Given the description of an element on the screen output the (x, y) to click on. 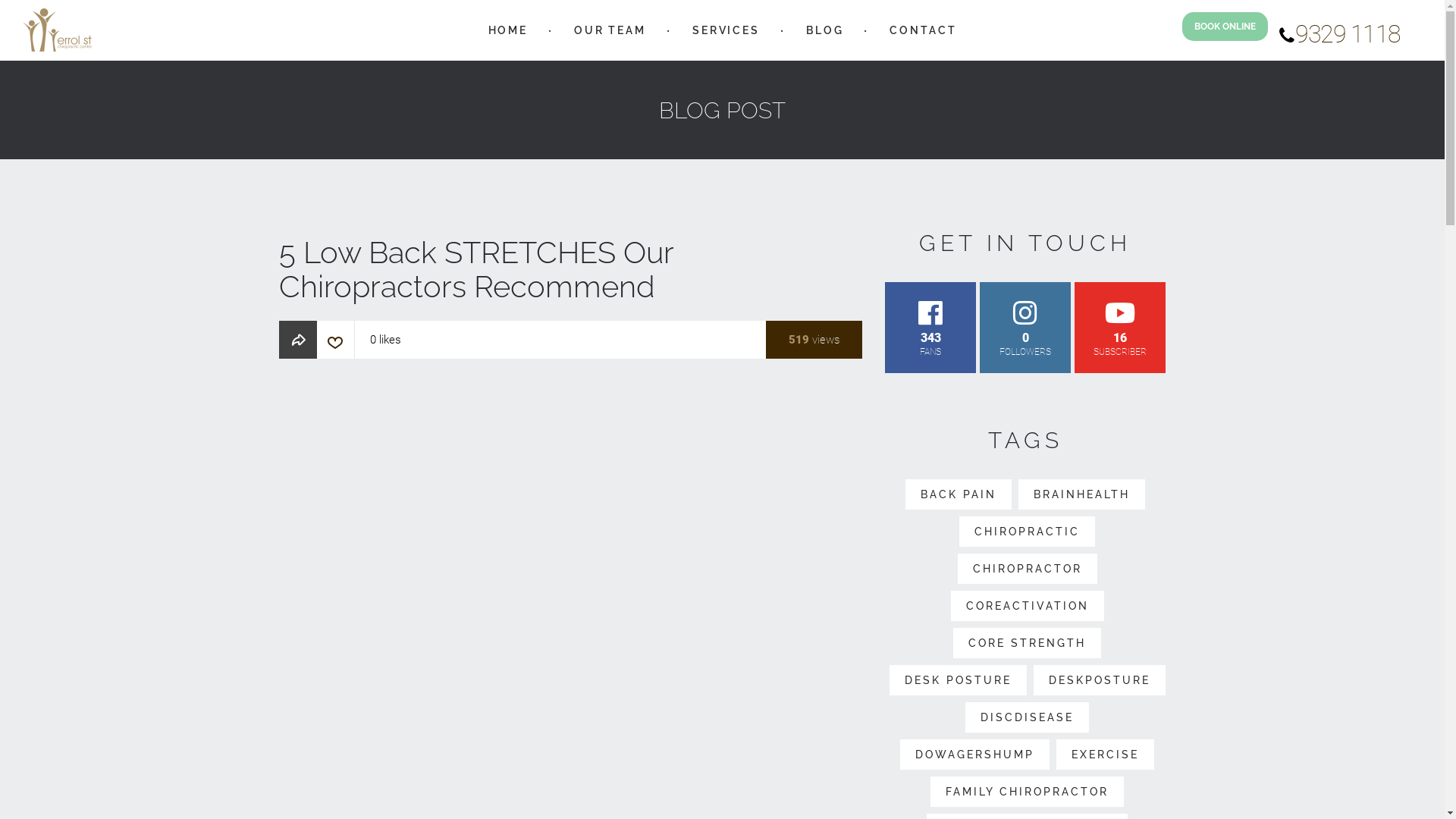
SERVICES Element type: text (725, 30)
like me Element type: hover (335, 345)
EXERCISE Element type: text (1105, 754)
BRAINHEALTH Element type: text (1081, 494)
DESK POSTURE Element type: text (957, 680)
0
FOLLOWERS Element type: text (1024, 327)
CORE STRENGTH Element type: text (1027, 642)
BLOG Element type: text (824, 30)
BACK PAIN Element type: text (958, 494)
DESKPOSTURE Element type: text (1099, 680)
CHIROPRACTIC Element type: text (1027, 531)
COREACTIVATION Element type: text (1027, 605)
CONTACT Element type: text (922, 30)
DOWAGERSHUMP Element type: text (974, 754)
9329 1118 Element type: text (1339, 38)
DISCDISEASE Element type: text (1026, 717)
16
SUBSCRIBER Element type: text (1119, 327)
FAMILY CHIROPRACTOR Element type: text (1026, 791)
OUR TEAM Element type: text (610, 30)
343
FANS Element type: text (929, 327)
HOME Element type: text (507, 30)
BOOK ONLINE Element type: text (1224, 26)
CHIROPRACTOR Element type: text (1027, 568)
5 Low Back STRETCHES Our Chiropractors Recommend Element type: hover (570, 595)
